Given the description of an element on the screen output the (x, y) to click on. 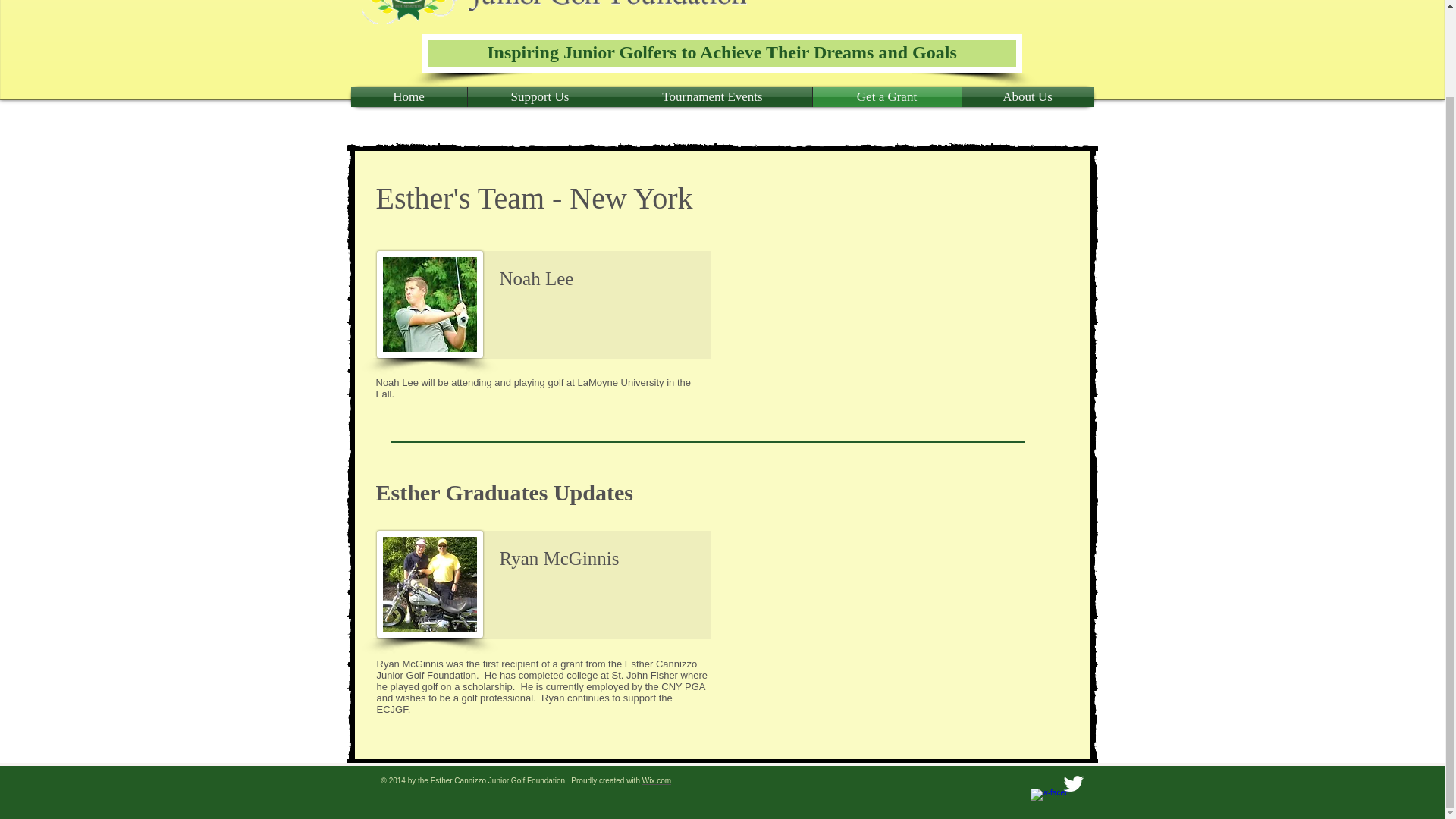
Home (407, 96)
Noah Lee.jpg (428, 303)
Ryan McGinnis.jpg (428, 584)
EC logo.gif (410, 12)
Wix.com (656, 780)
Support Us (539, 96)
Tournament Events (711, 96)
About Us (1026, 96)
Get a Grant (886, 96)
